Given the description of an element on the screen output the (x, y) to click on. 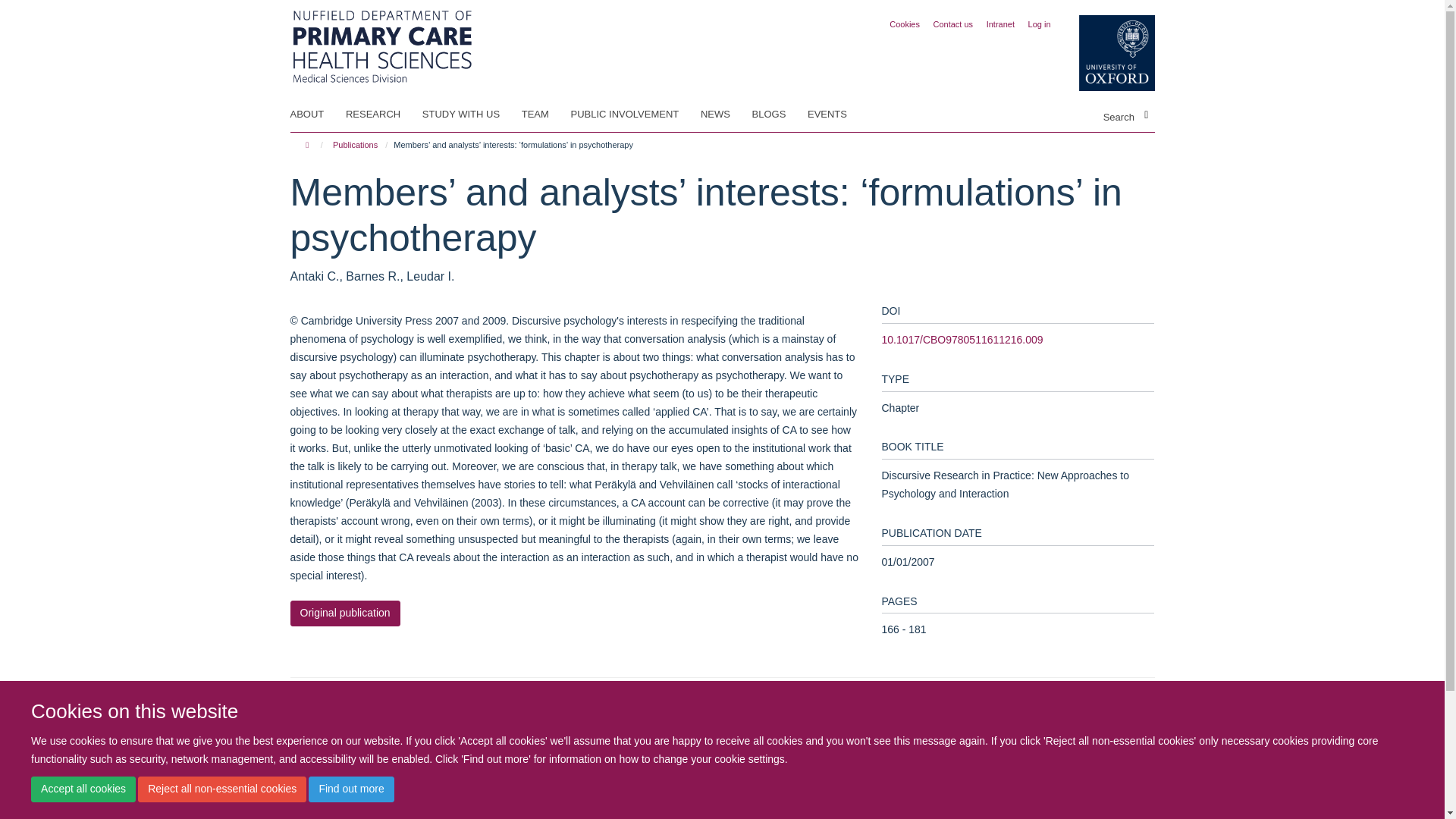
Contact us (953, 23)
Find out more (350, 789)
Intranet (1000, 23)
Reject all non-essential cookies (221, 789)
Log in (1039, 23)
Cookies (904, 23)
Accept all cookies (82, 789)
